Given the description of an element on the screen output the (x, y) to click on. 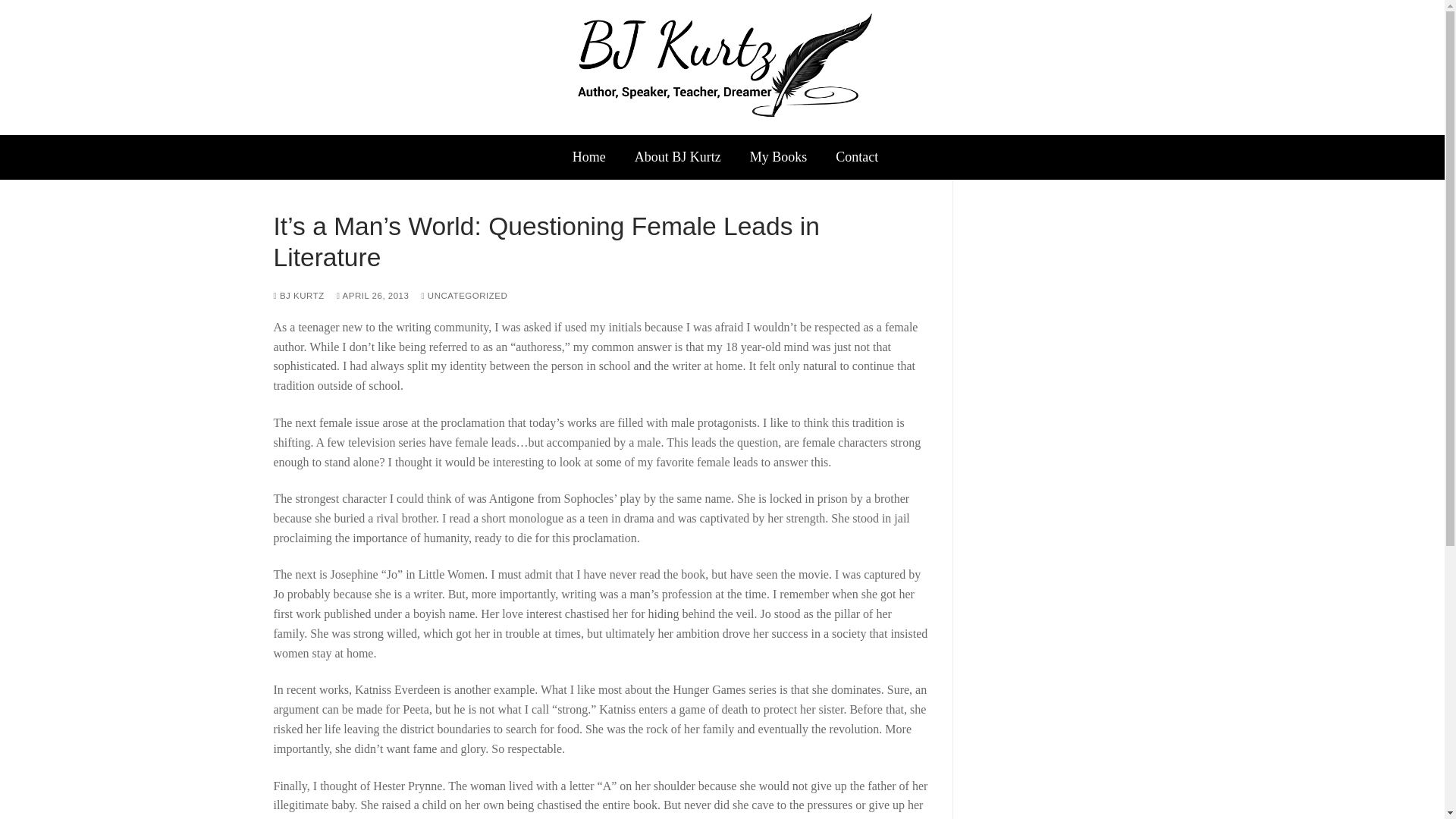
Contact (856, 156)
APRIL 26, 2013 (372, 295)
UNCATEGORIZED (463, 295)
About BJ Kurtz (677, 156)
Home (589, 156)
My Books (778, 156)
BJ KURTZ (298, 295)
